Given the description of an element on the screen output the (x, y) to click on. 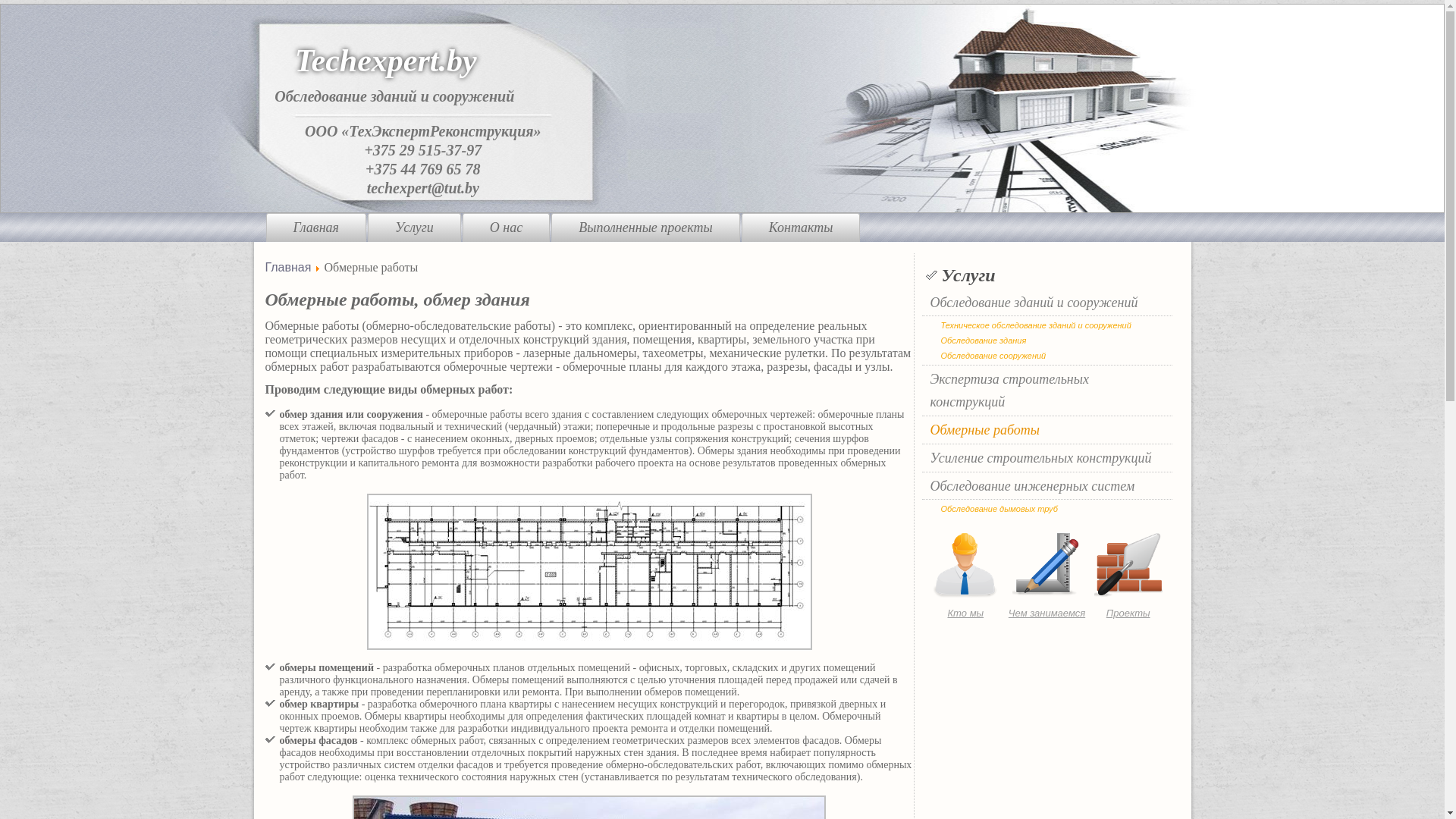
+375 29 515-37-97 Element type: text (422, 149)
techexpert@tut.by Element type: text (423, 186)
Techexpert.by Element type: text (385, 60)
+375 44 769 65 78 Element type: text (422, 168)
